Given the description of an element on the screen output the (x, y) to click on. 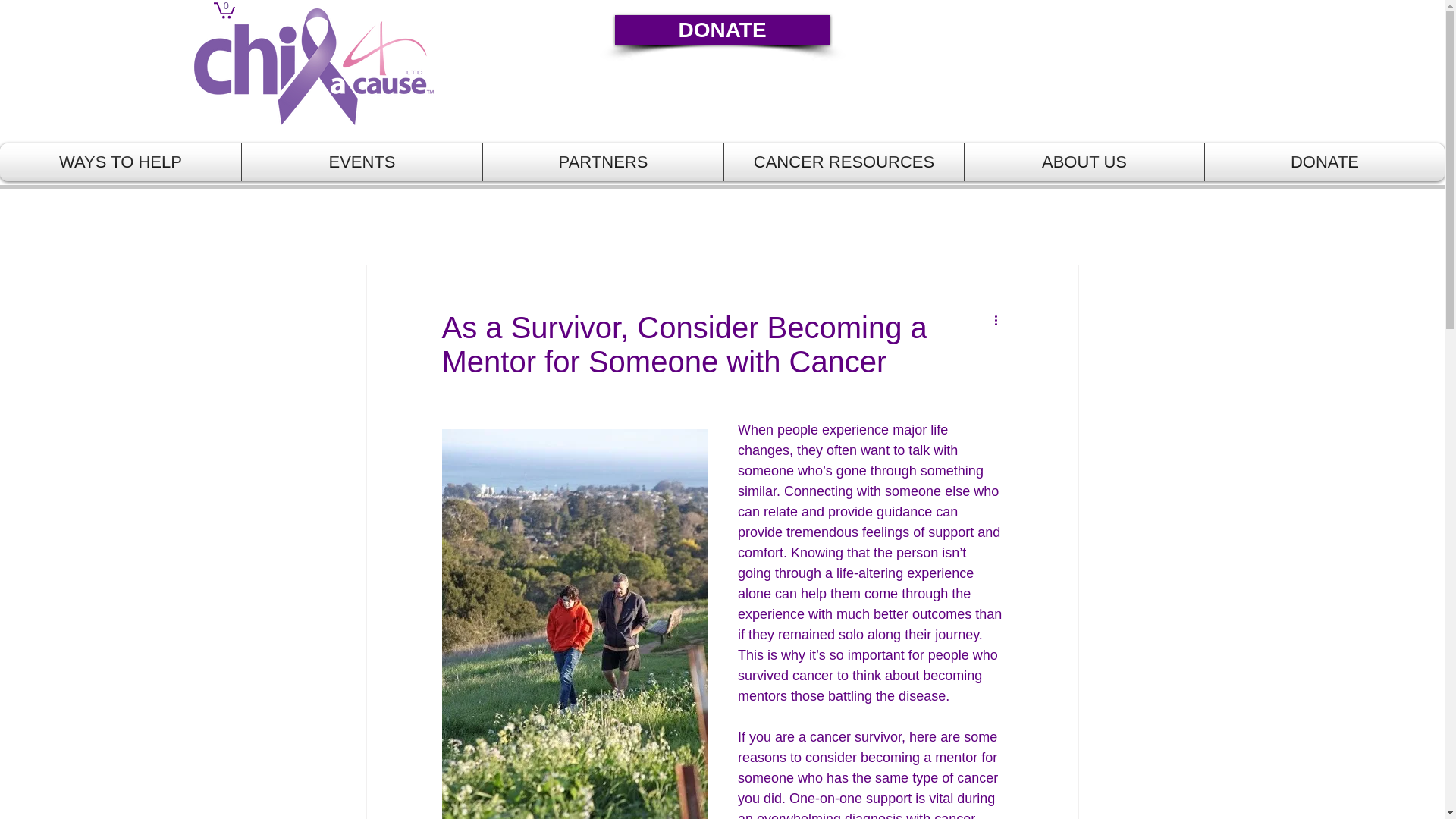
EVENTS (361, 161)
0 (224, 9)
0 (224, 9)
WAYS TO HELP (120, 161)
DONATE (721, 30)
CANCER RESOURCES (843, 161)
PARTNERS (603, 161)
ABOUT US (1083, 161)
